Given the description of an element on the screen output the (x, y) to click on. 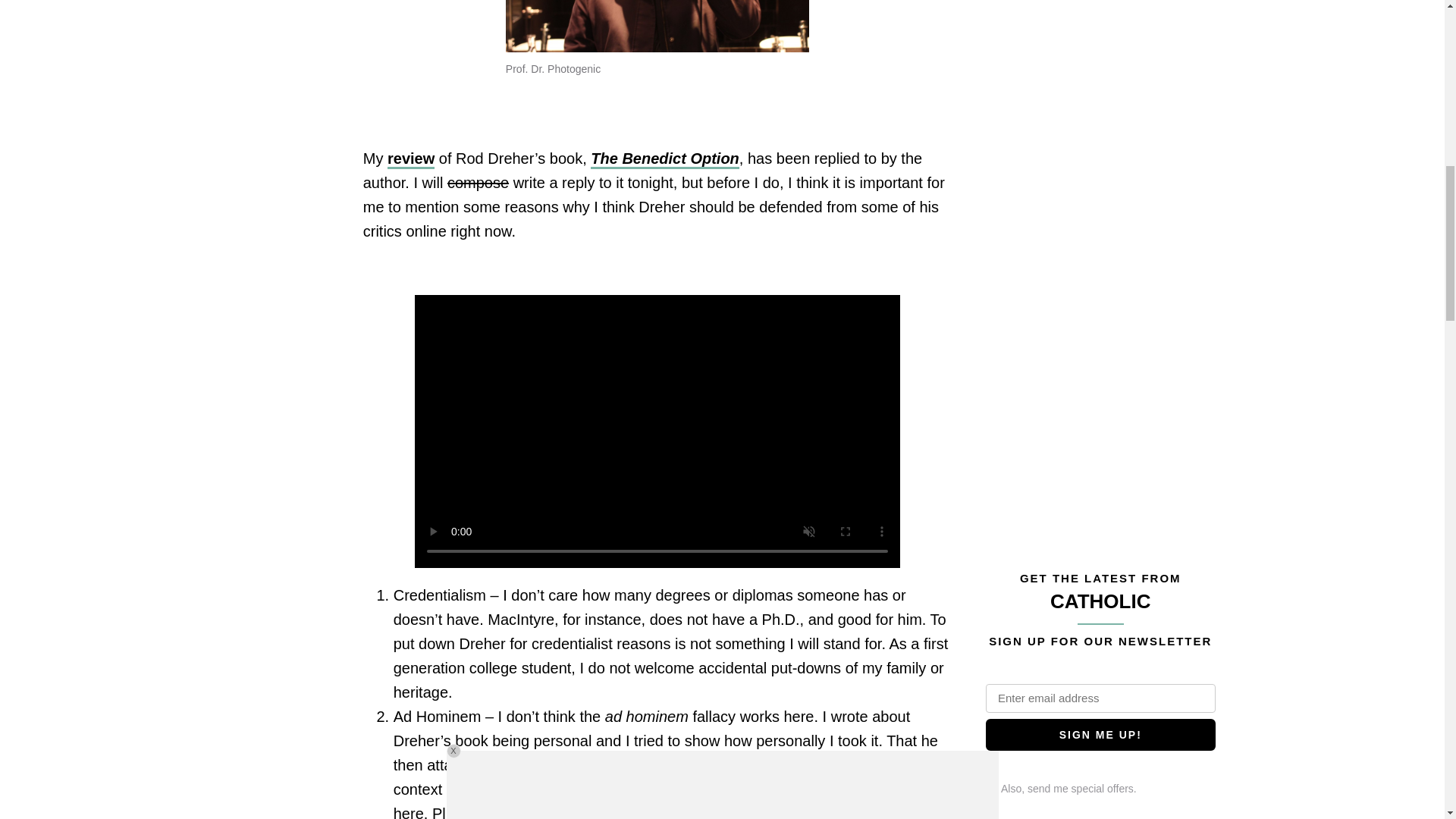
3rd party ad content (1098, 19)
Sign me up! (1100, 735)
true (990, 774)
